Given the description of an element on the screen output the (x, y) to click on. 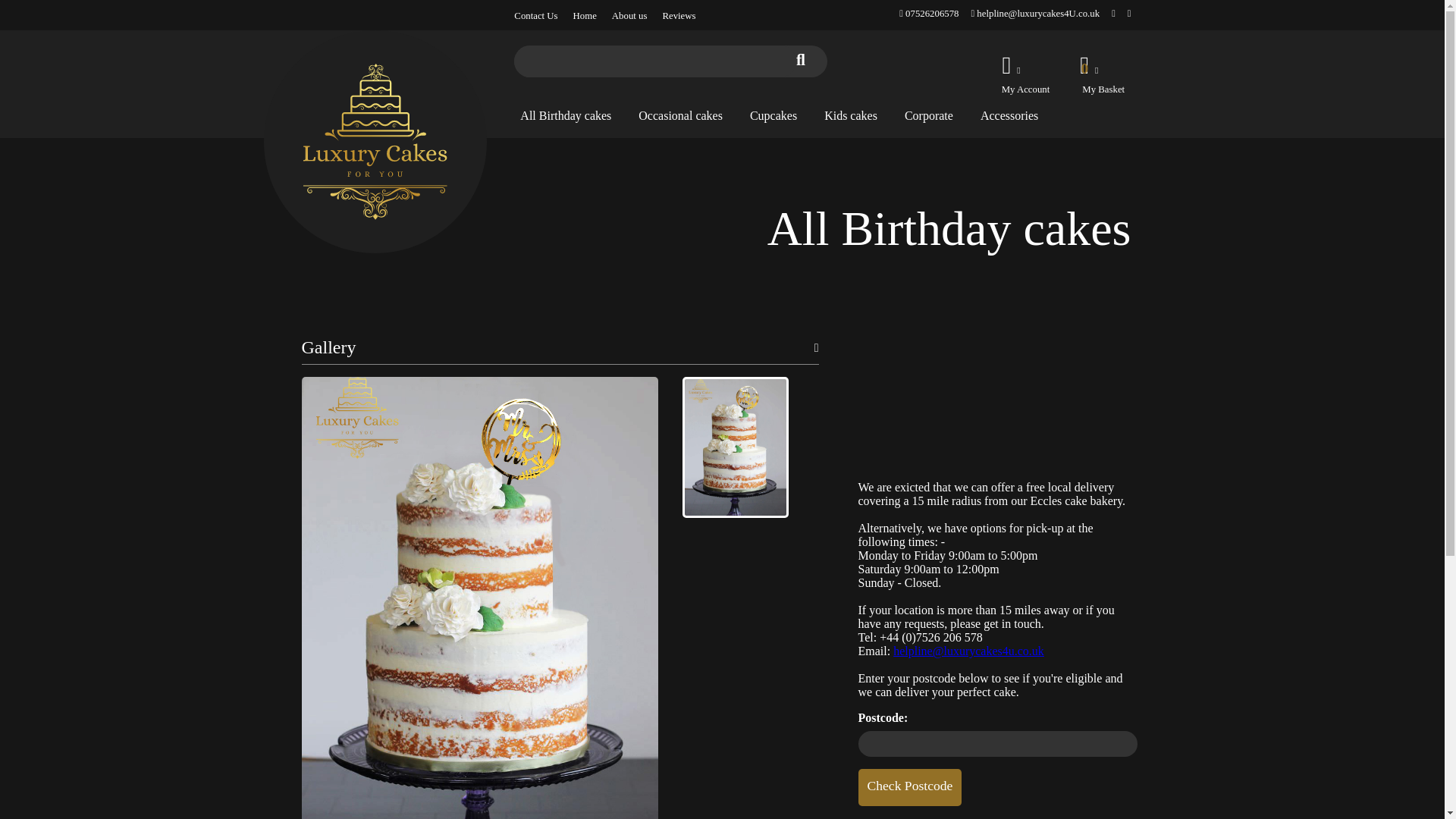
Contact Us (535, 15)
Home (584, 15)
All Birthday cakes (565, 115)
About us (629, 15)
Kids cakes (850, 115)
Reviews (678, 15)
Accessories (1008, 115)
Occasional cakes (680, 115)
Corporate (928, 115)
07526206578 (928, 13)
Cupcakes (772, 115)
